Given the description of an element on the screen output the (x, y) to click on. 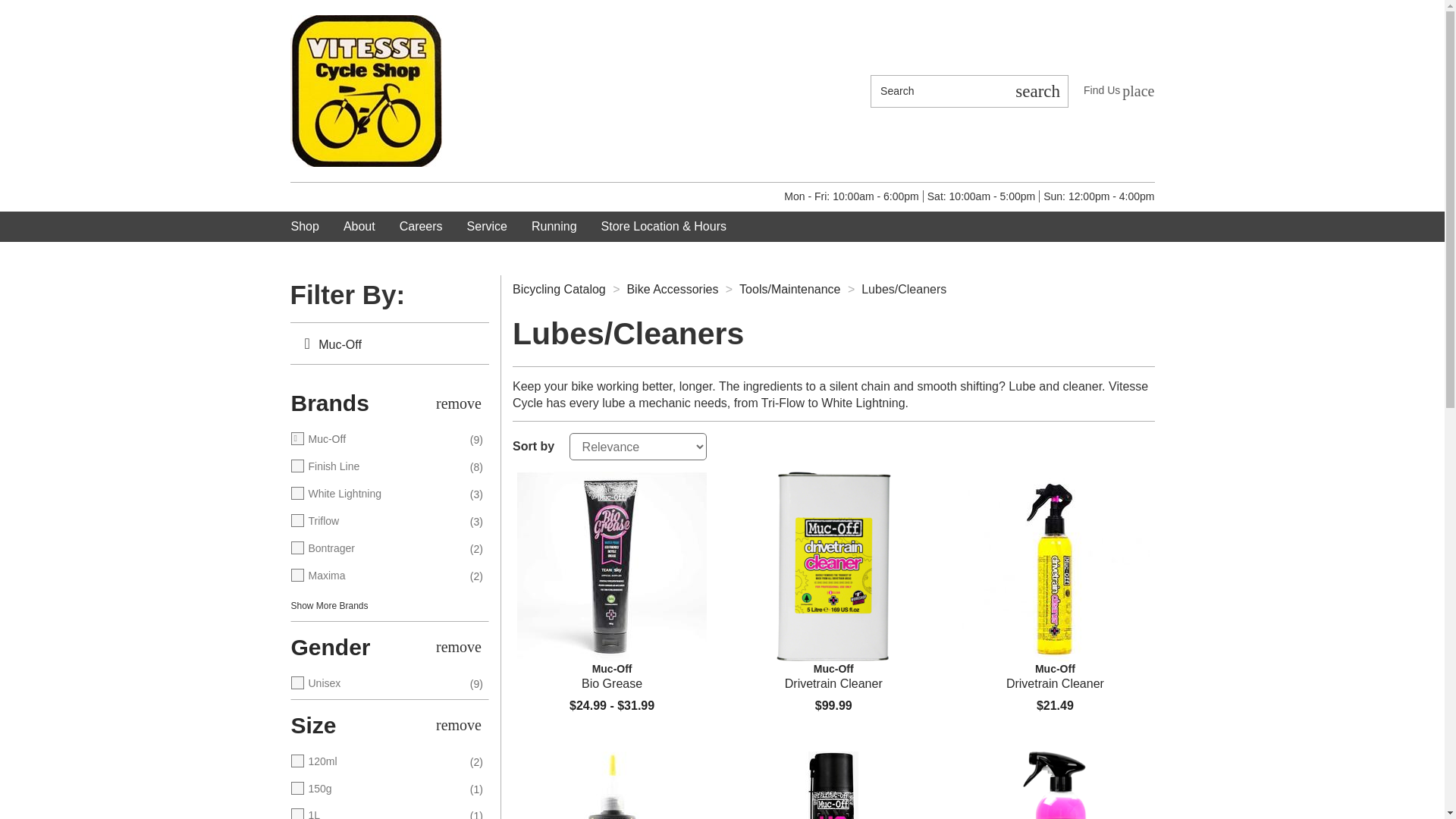
Search (1037, 90)
Vitesse Cycle Home Page (1118, 90)
Muc-Off Drivetrain Cleaner (365, 90)
Muc-Off Drivetrain Cleaner (1054, 565)
Muc-Off Bio Grease (833, 675)
Muc-Off Bio Grease (611, 565)
Search (611, 675)
Muc-Off Drivetrain Cleaner (938, 90)
Store (833, 565)
